Given the description of an element on the screen output the (x, y) to click on. 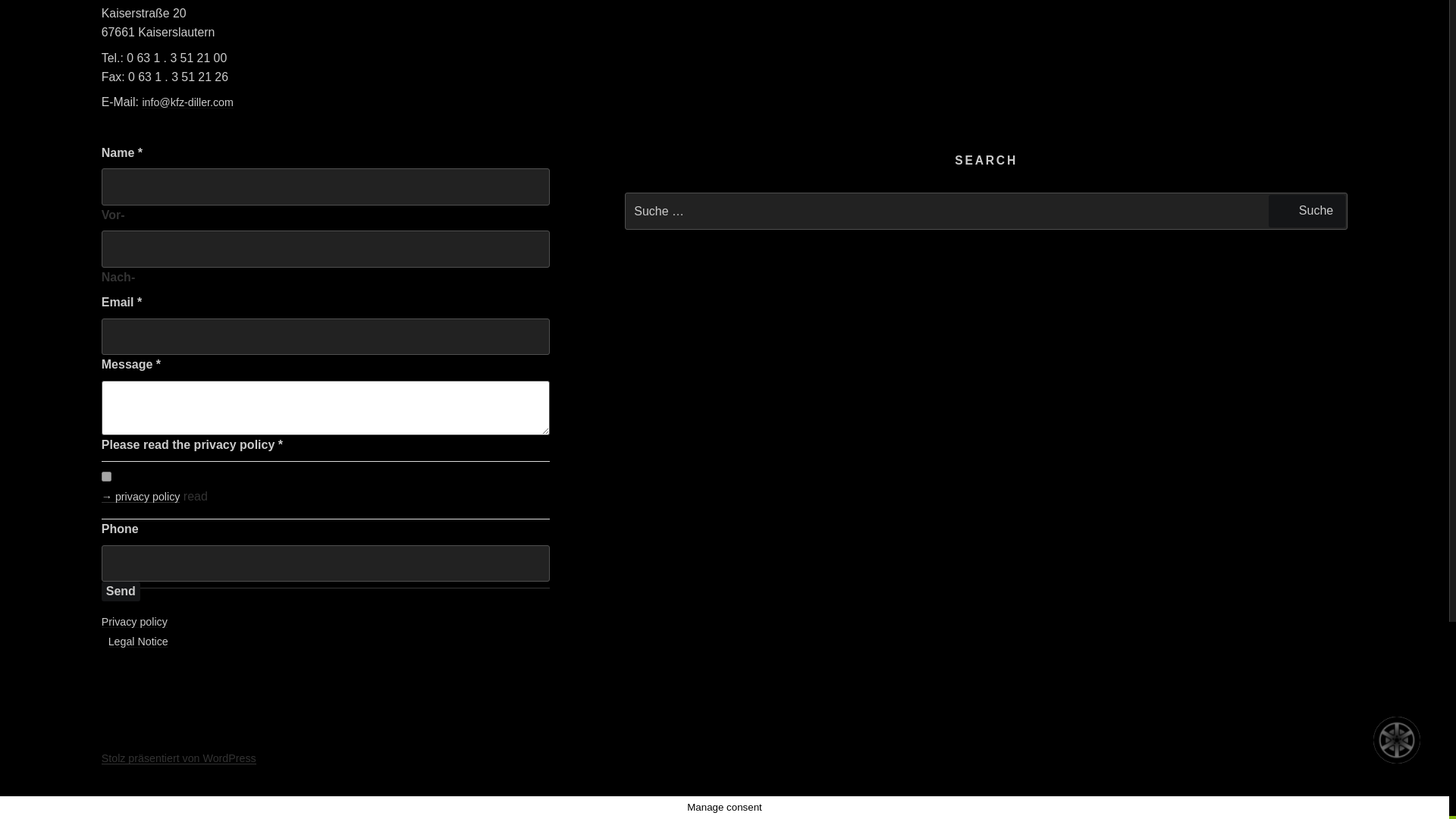
Privacy policy (134, 621)
Send (120, 591)
Suche (1306, 210)
Legal Notice (137, 641)
